Given the description of an element on the screen output the (x, y) to click on. 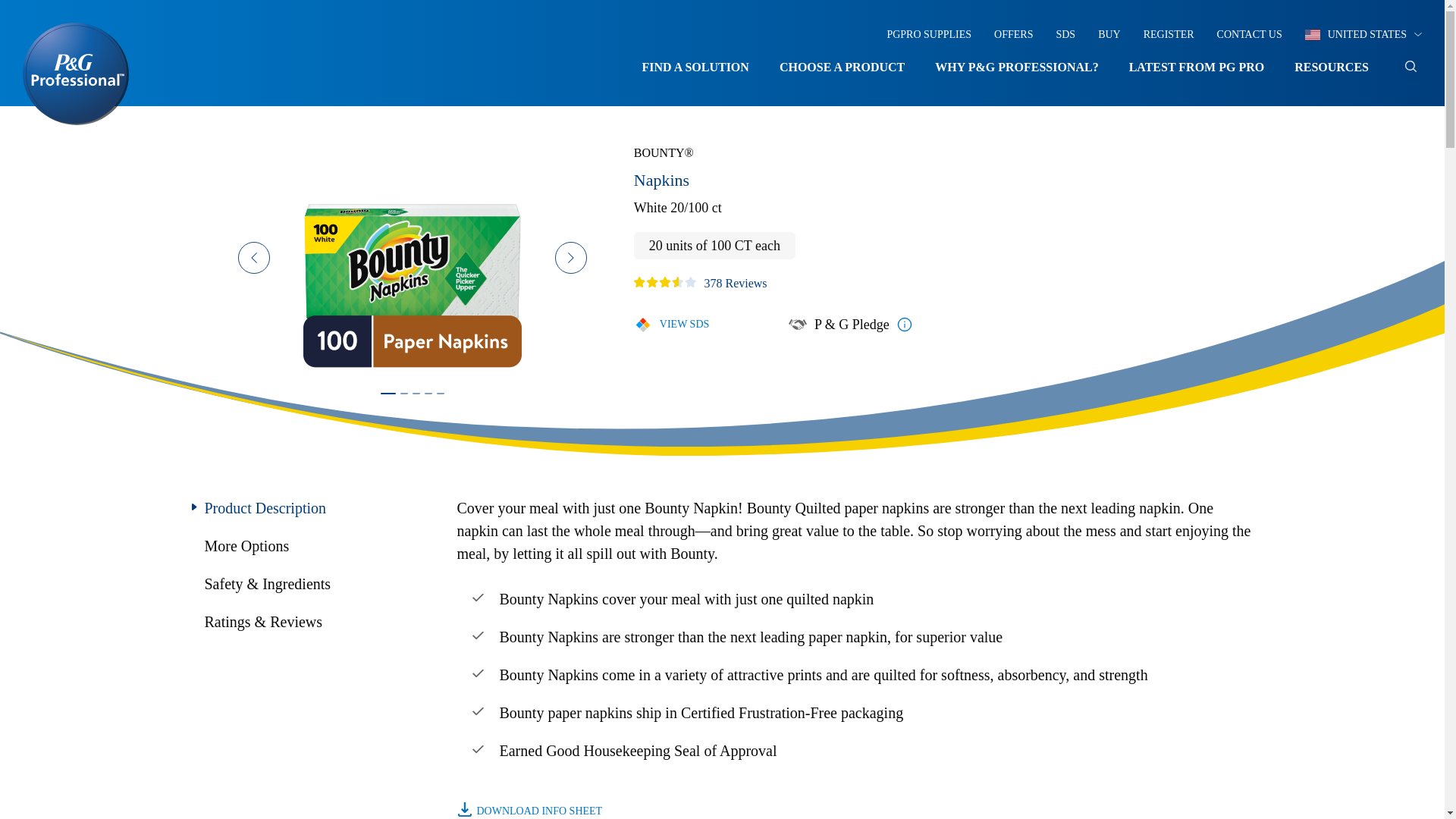
searchIcon (1409, 66)
BUY (1109, 33)
REGISTER (1167, 33)
RESOURCES (1331, 68)
378 Reviews (731, 285)
UNITED STATES (1363, 33)
SDS (1065, 33)
5 (443, 396)
3 (420, 396)
2 (407, 396)
LATEST FROM PG PRO (1197, 68)
PGPRO SUPPLIES (928, 33)
CHOOSE A PRODUCT (841, 68)
OFFERS (1013, 33)
More Options (247, 545)
